Given the description of an element on the screen output the (x, y) to click on. 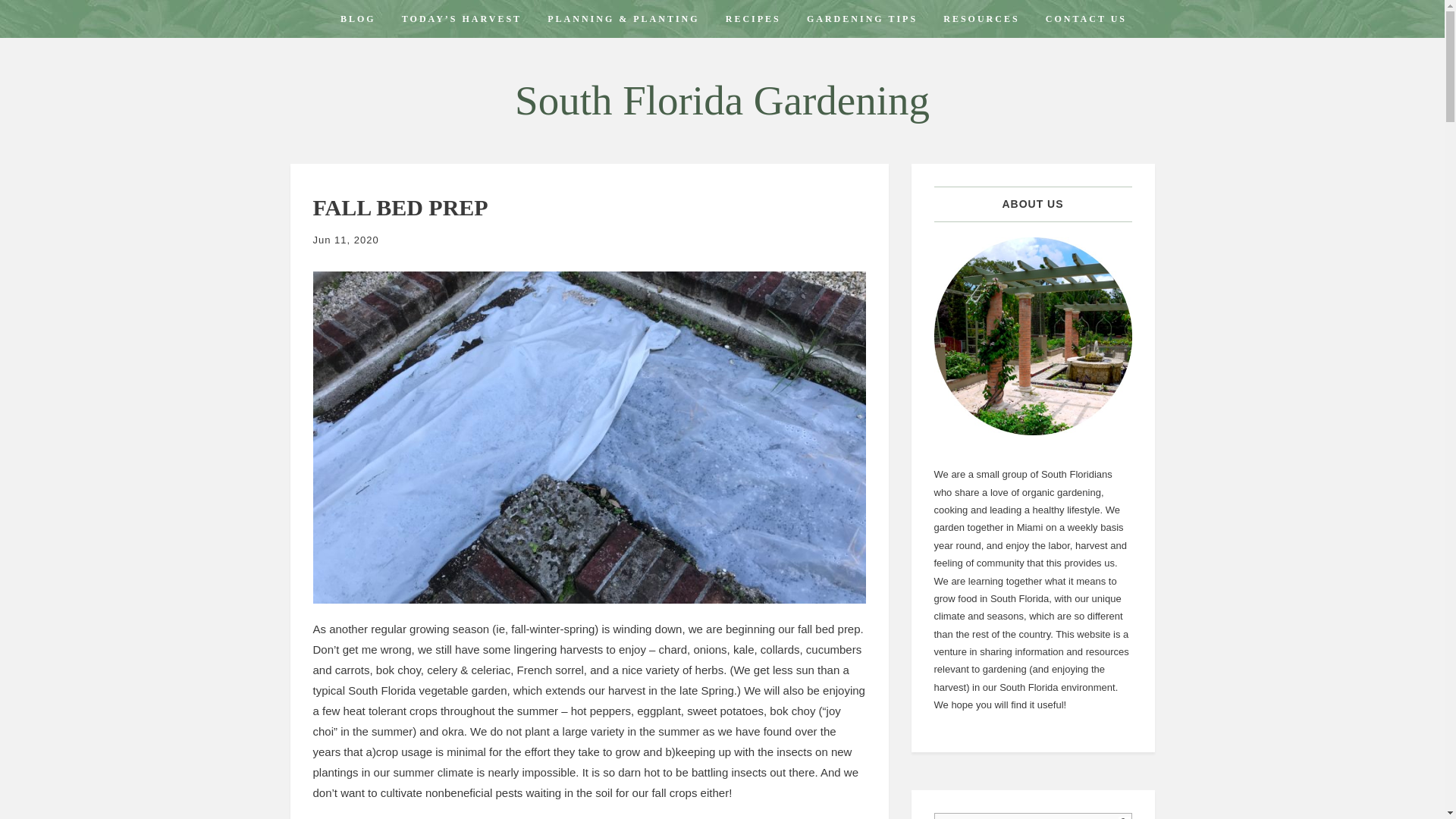
Fall Bed Prep (400, 207)
GARDENING TIPS (861, 18)
South Florida Gardening (722, 99)
Search (1033, 816)
RESOURCES (980, 18)
Gardening Tips (861, 18)
Recipes (753, 18)
CONTACT US (1085, 18)
Resources (980, 18)
Contact Us (1085, 18)
FALL BED PREP (400, 207)
BLOG (358, 18)
Blog (358, 18)
RECIPES (753, 18)
Today's Harvest (461, 18)
